Given the description of an element on the screen output the (x, y) to click on. 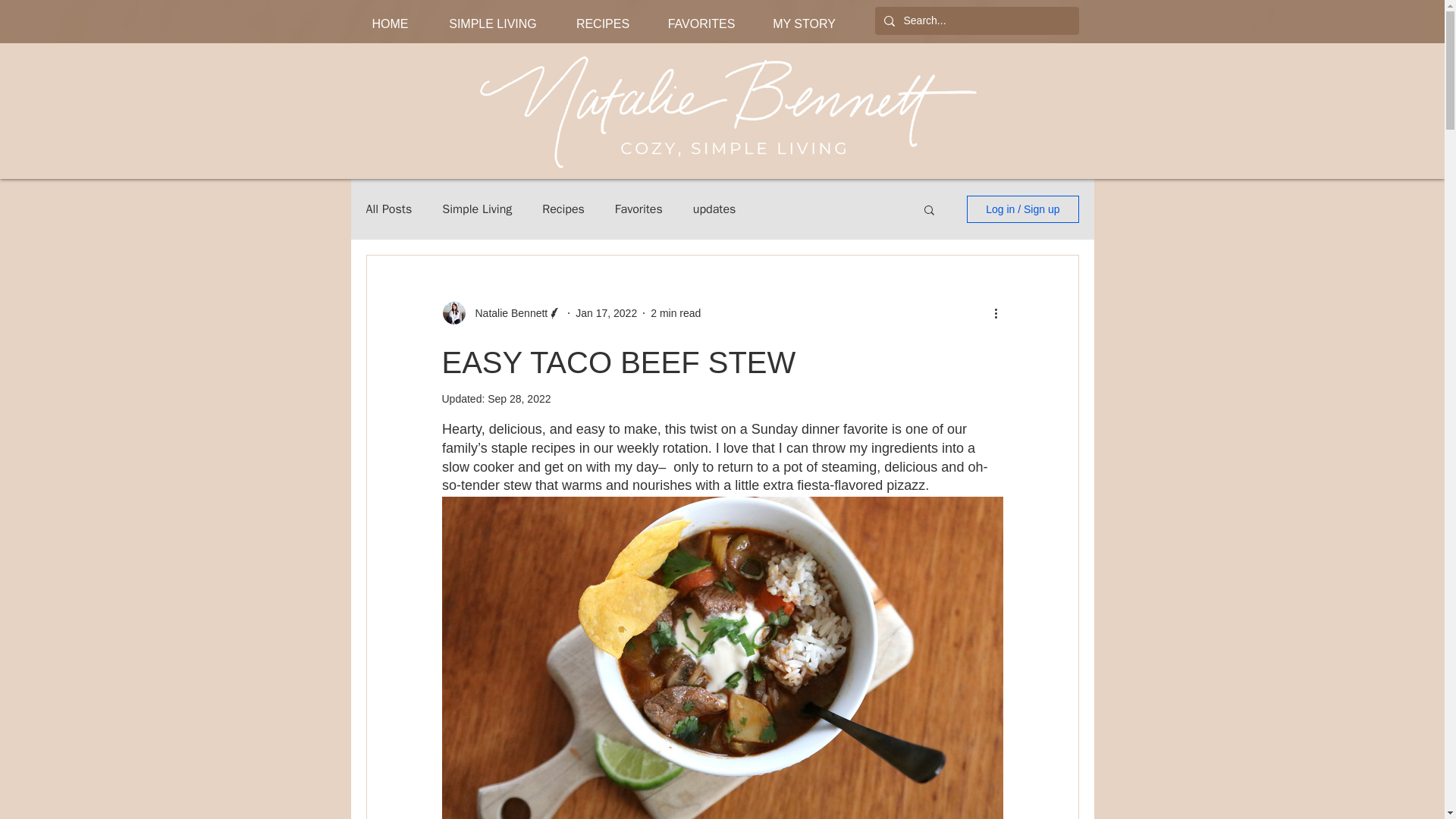
2 min read (675, 312)
Favorites (638, 209)
MY STORY (803, 23)
FAVORITES (701, 23)
RECIPES (601, 23)
SIMPLE LIVING (493, 23)
Simple Living (477, 209)
Natalie Bennett (506, 312)
Sep 28, 2022 (518, 398)
All Posts (388, 209)
updates (714, 209)
Recipes (563, 209)
HOME (390, 23)
Jan 17, 2022 (606, 312)
